Given the description of an element on the screen output the (x, y) to click on. 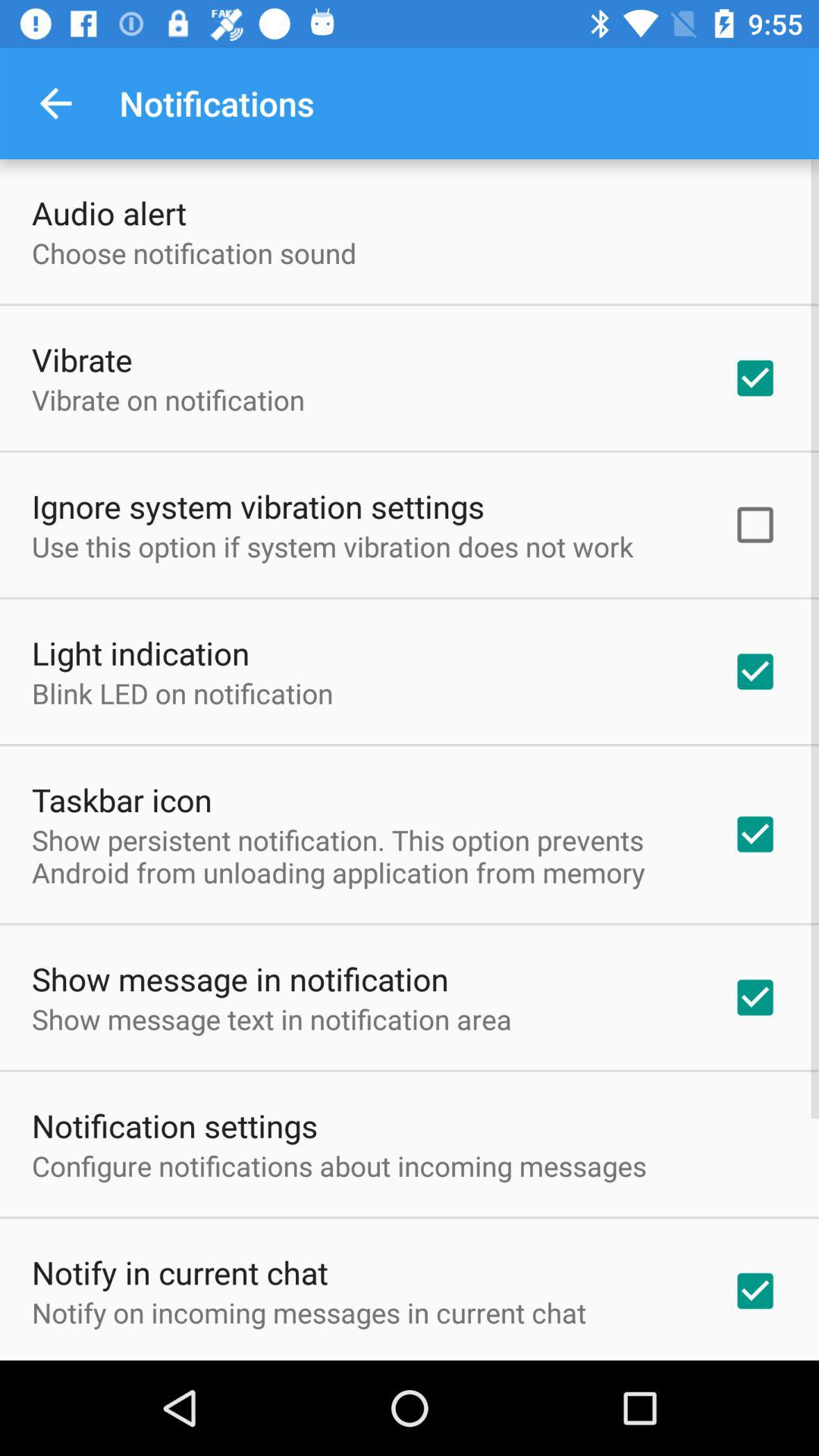
click icon above the configure notifications about item (174, 1125)
